Given the description of an element on the screen output the (x, y) to click on. 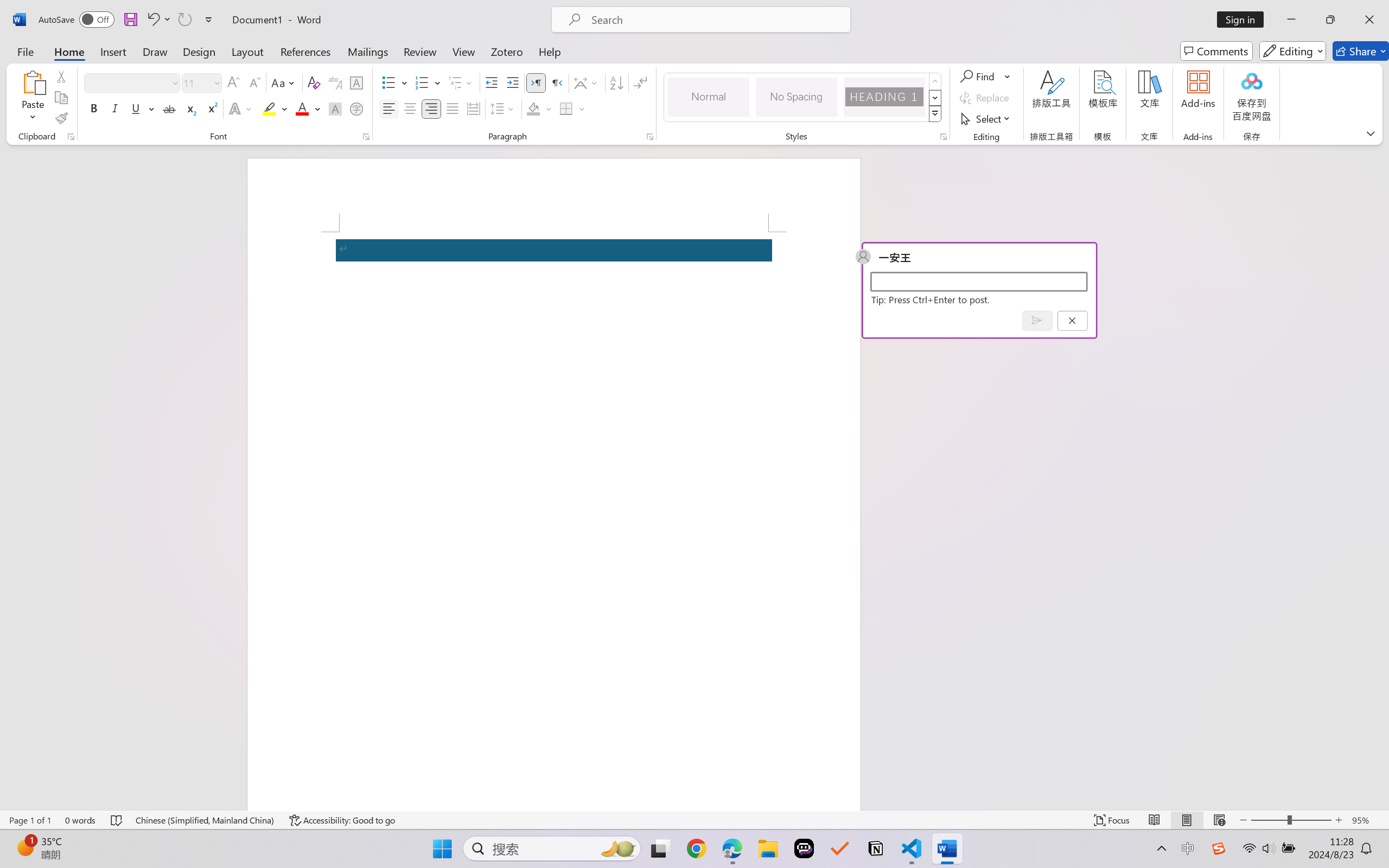
Sign in (1244, 19)
Language Chinese (Simplified, Mainland China) (205, 819)
Font Color RGB(255, 0, 0) (302, 108)
